Given the description of an element on the screen output the (x, y) to click on. 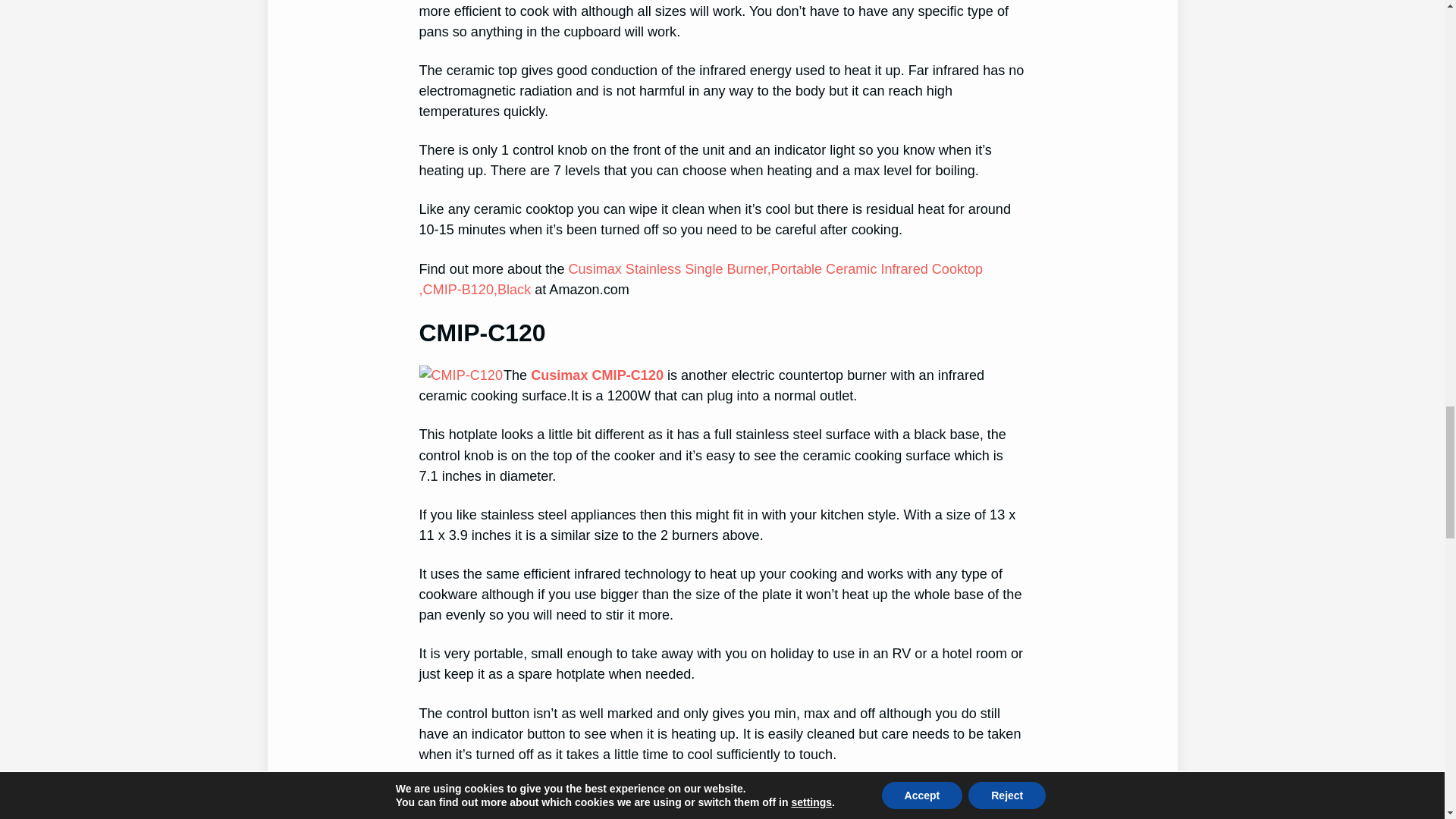
Cusimax CMIP-C120 (597, 375)
